Given the description of an element on the screen output the (x, y) to click on. 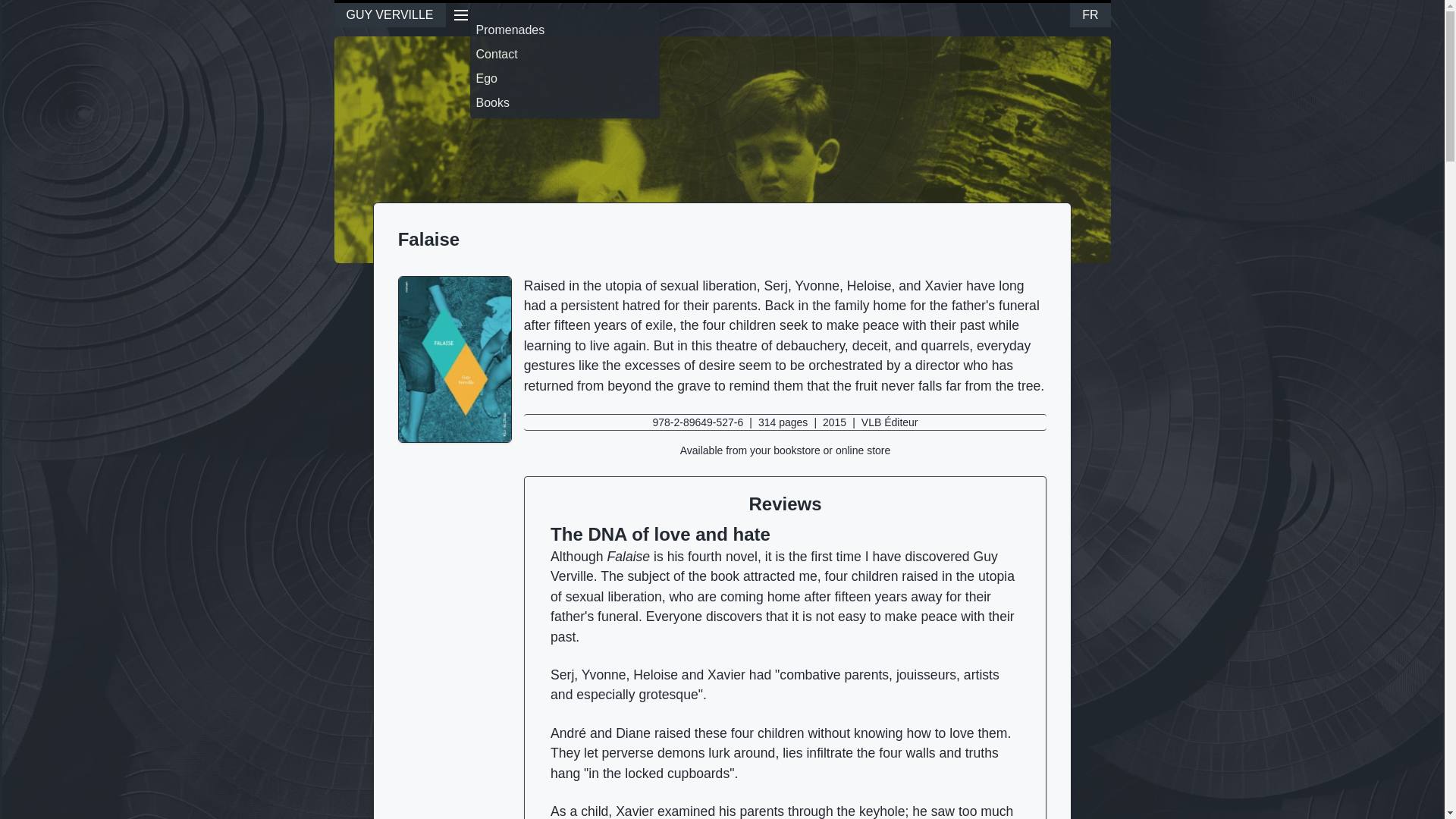
Books (564, 103)
Ego (564, 78)
Contact (564, 54)
Promenades (564, 30)
GUY VERVILLE (389, 14)
